Given the description of an element on the screen output the (x, y) to click on. 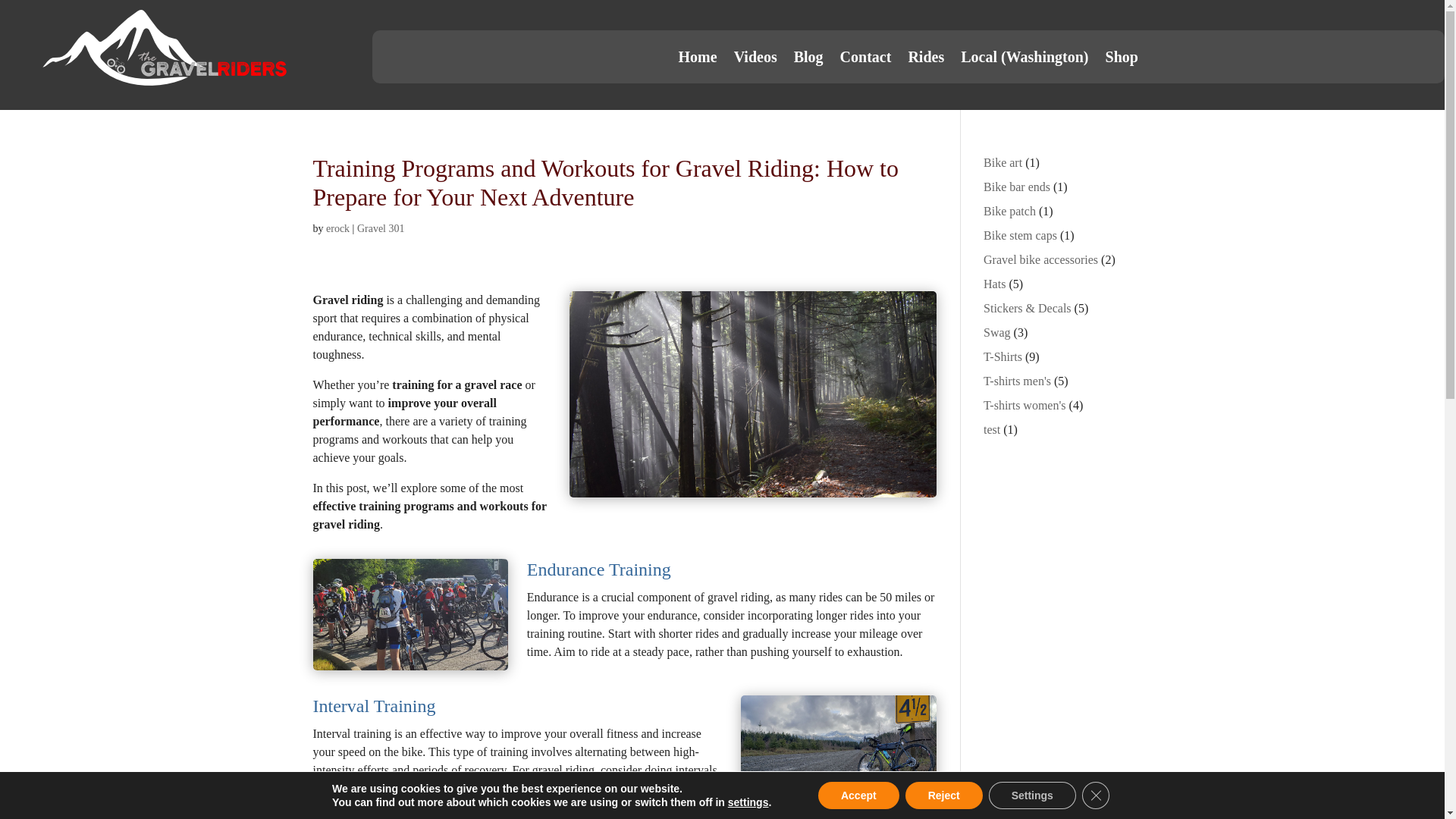
Blog (808, 59)
Swag (997, 332)
Bike stem caps (1020, 235)
test (992, 429)
erock (337, 228)
Bike patch (1009, 210)
Bike art (1003, 162)
Hats (995, 283)
Shop (1121, 59)
Contact (865, 59)
Rides (925, 59)
Gravel bike accessories (1040, 259)
T-Shirts (1003, 356)
the-gravel-riders-lede-1 (838, 742)
Posts by erock (337, 228)
